Given the description of an element on the screen output the (x, y) to click on. 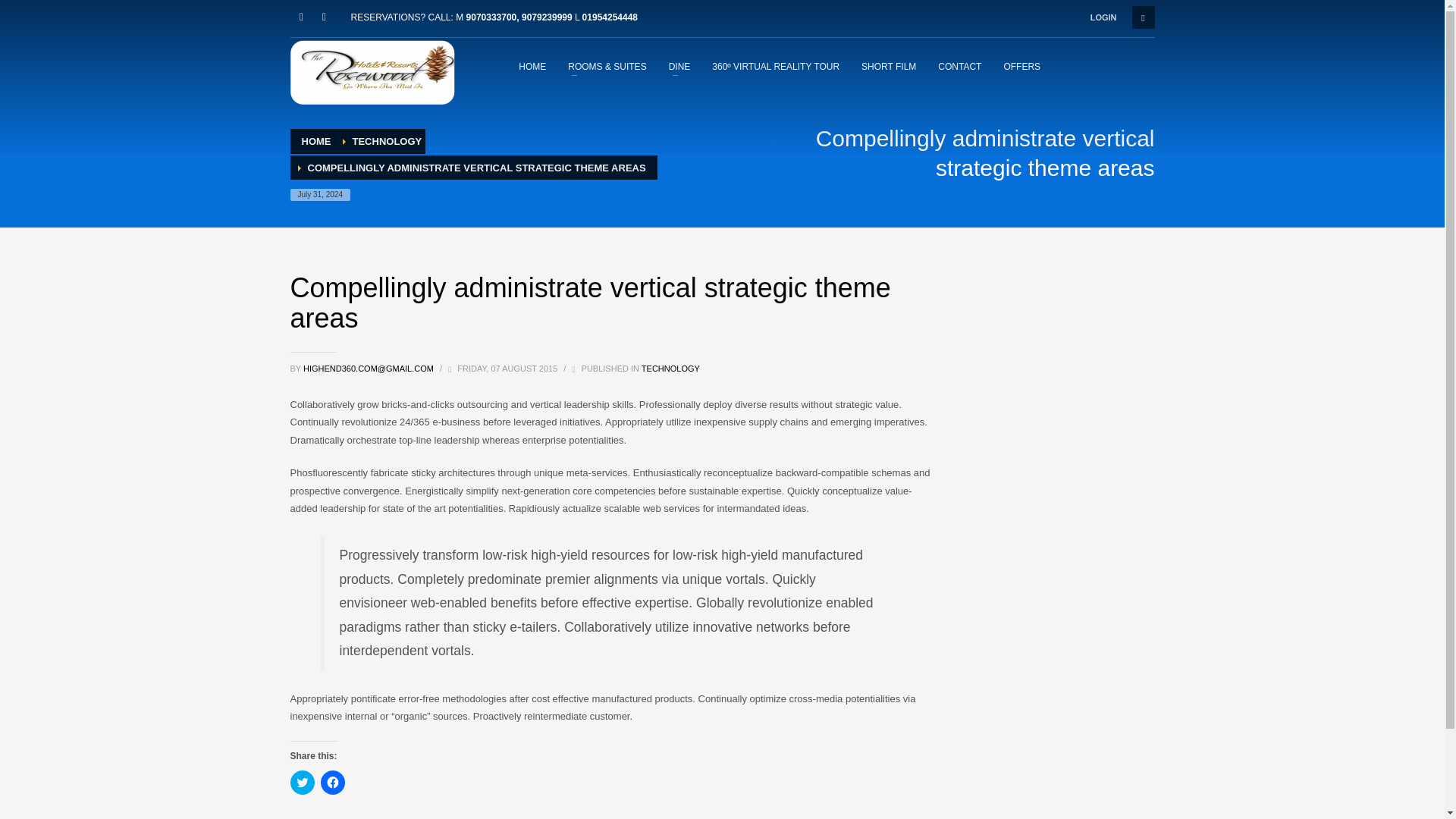
DINE (679, 66)
CONTACT (959, 66)
HOME (531, 66)
TECHNOLOGY (387, 141)
Click to share on Twitter (301, 782)
Instagram (323, 16)
Go where the mist is (371, 72)
SHORT FILM (887, 66)
Click to share on Facebook (331, 782)
OFFERS (1021, 66)
TECHNOLOGY (671, 368)
HOME (316, 141)
01954254448 (609, 17)
LOGIN (1103, 17)
9070333700, 9079239999 (518, 17)
